Given the description of an element on the screen output the (x, y) to click on. 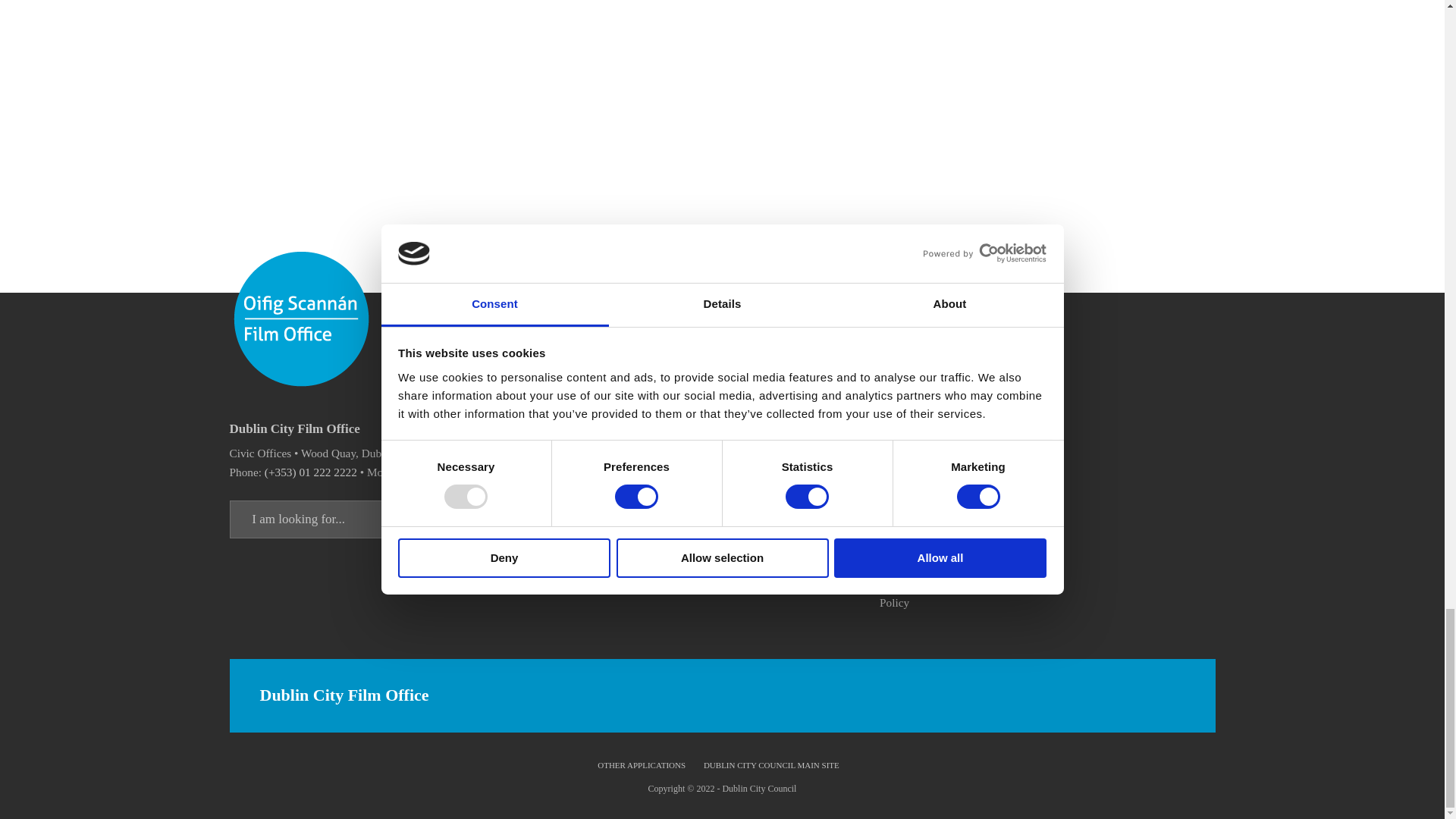
I am looking for... (446, 519)
